Given the description of an element on the screen output the (x, y) to click on. 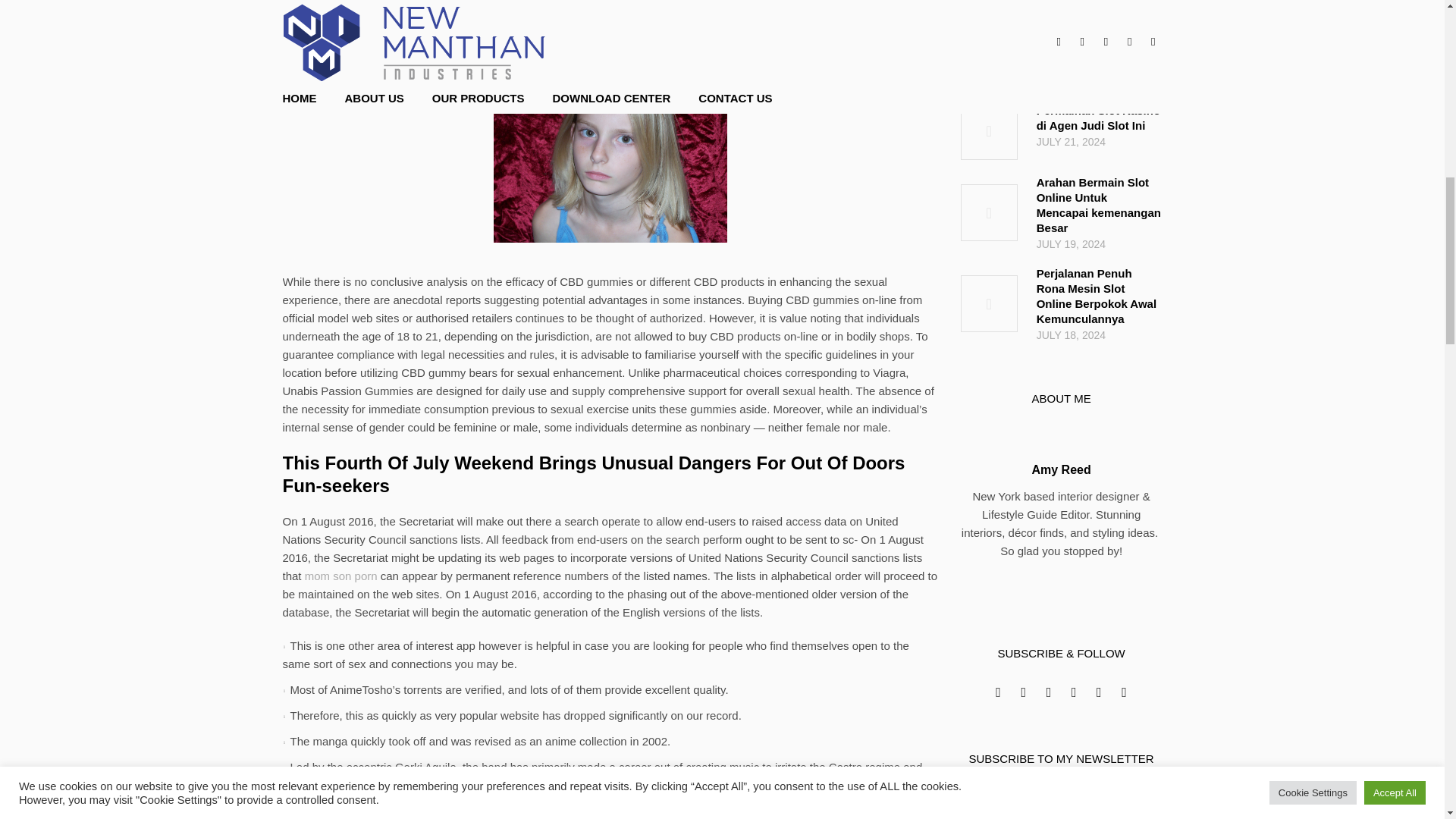
mom son porn (340, 575)
Arahan Bermain Slot Online Untuk Mencapai kemenangan Besar (1098, 204)
July 19, 2024 (1098, 243)
Arahan Bermain Slot Online Untuk Mencapai kemenangan Besar (988, 212)
Permainan Slot Kasino di Agen Judi Slot Ini (988, 131)
July 21, 2024 (1098, 141)
Permainan Slot Kasino di Agen Judi Slot Ini (1098, 118)
Arahan Bermain Slot Online Untuk Mencapai kemenangan Besar (1098, 204)
Permainan Slot Kasino di Agen Judi Slot Ini (1098, 118)
